Given the description of an element on the screen output the (x, y) to click on. 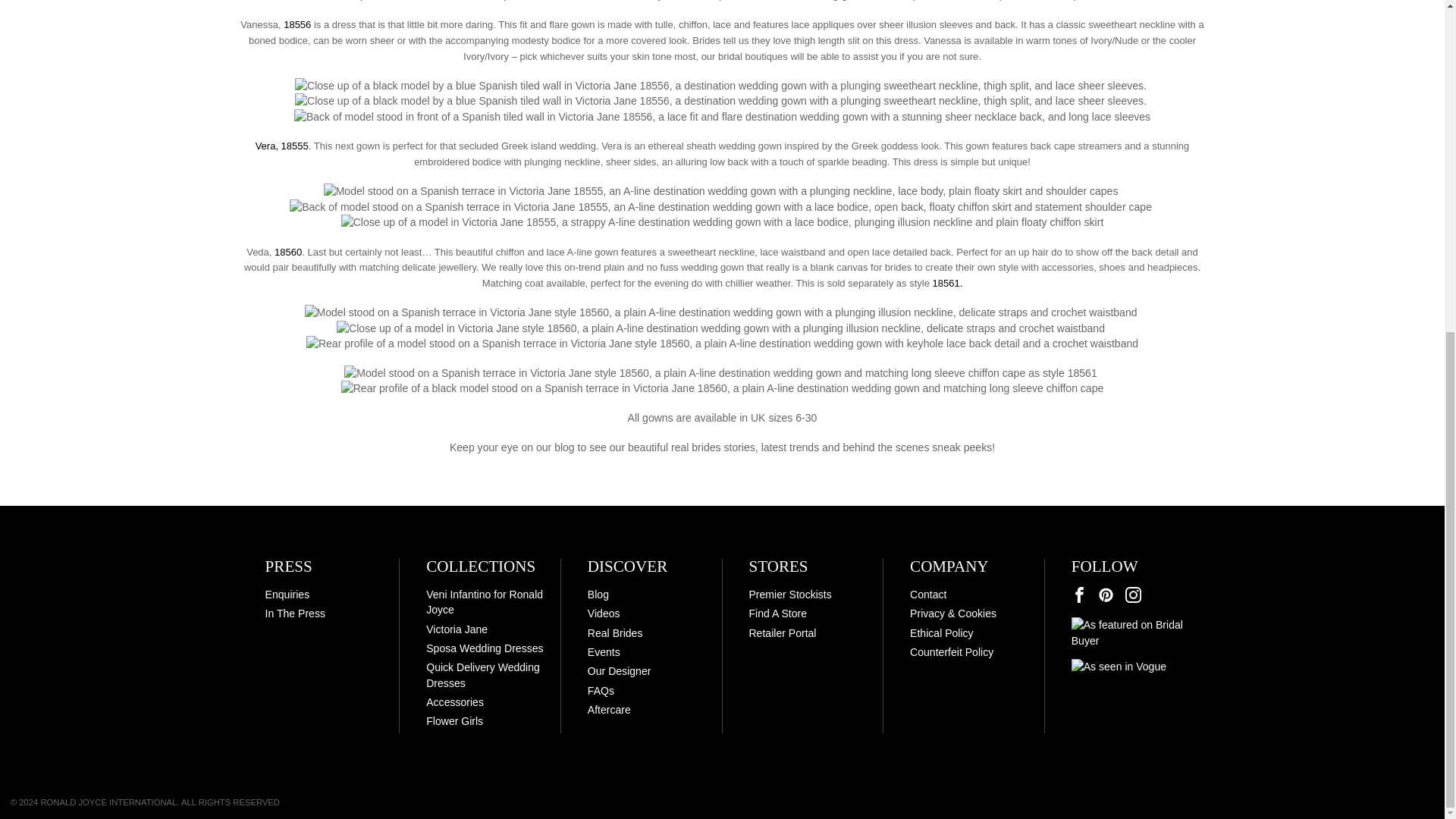
In The Press (294, 613)
Sposa Wedding Dresses (484, 648)
Victoria Jane (456, 629)
Veni Infantino for Ronald Joyce (484, 601)
18560 (288, 251)
Accessories (454, 702)
18561. (946, 283)
Flower Girls (454, 720)
18556 (297, 24)
Vera, 18555 (282, 145)
